Given the description of an element on the screen output the (x, y) to click on. 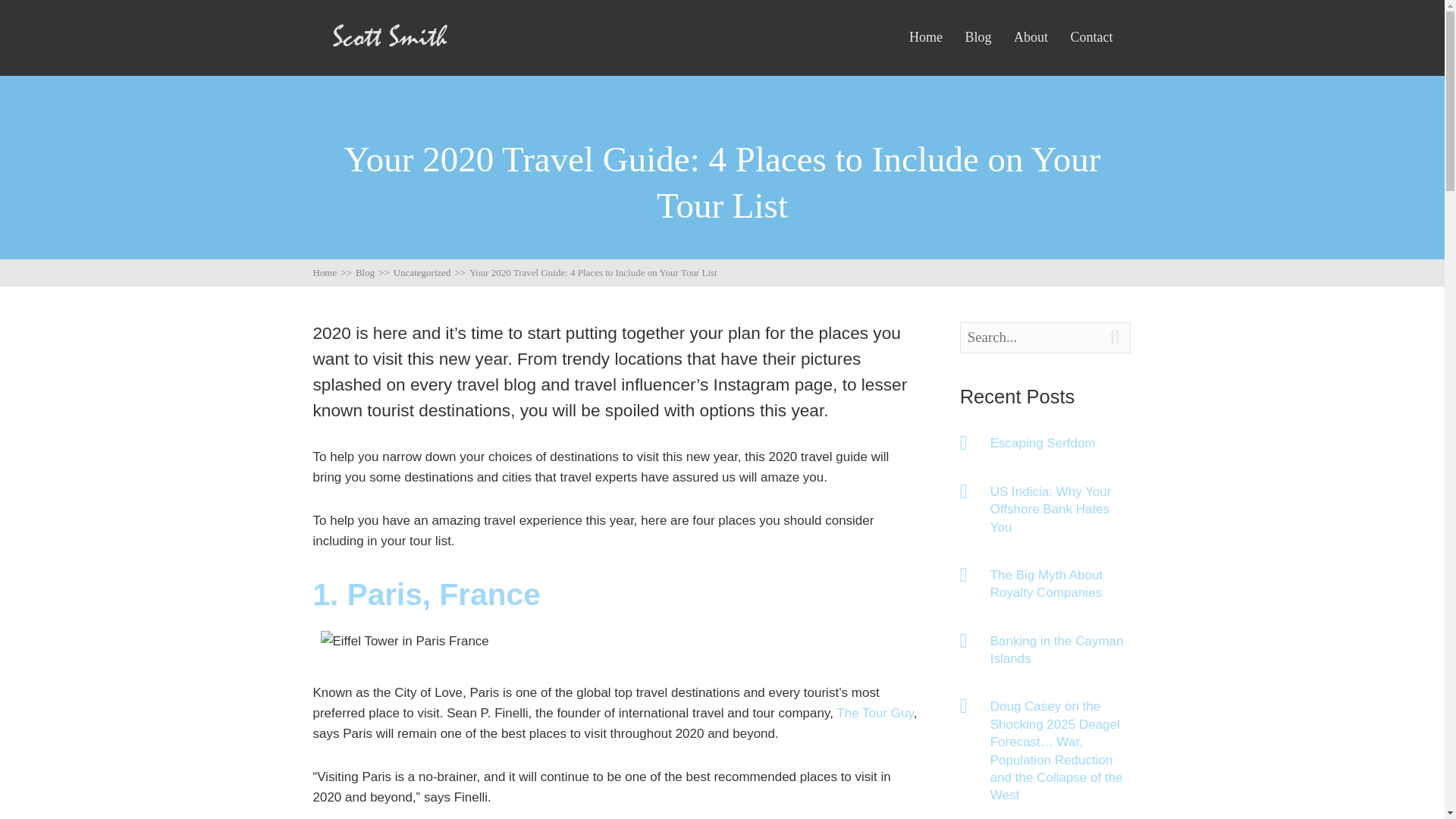
About (1030, 37)
Banking in the Cayman Islands (1061, 650)
The Big Myth About Royalty Companies (1061, 583)
Blog (977, 37)
Home (925, 37)
The Tour Guy (873, 712)
Contact (1091, 37)
Escaping Serfdom (1061, 443)
US Indicia: Why Your Offshore Bank Hates You (1061, 509)
